Given the description of an element on the screen output the (x, y) to click on. 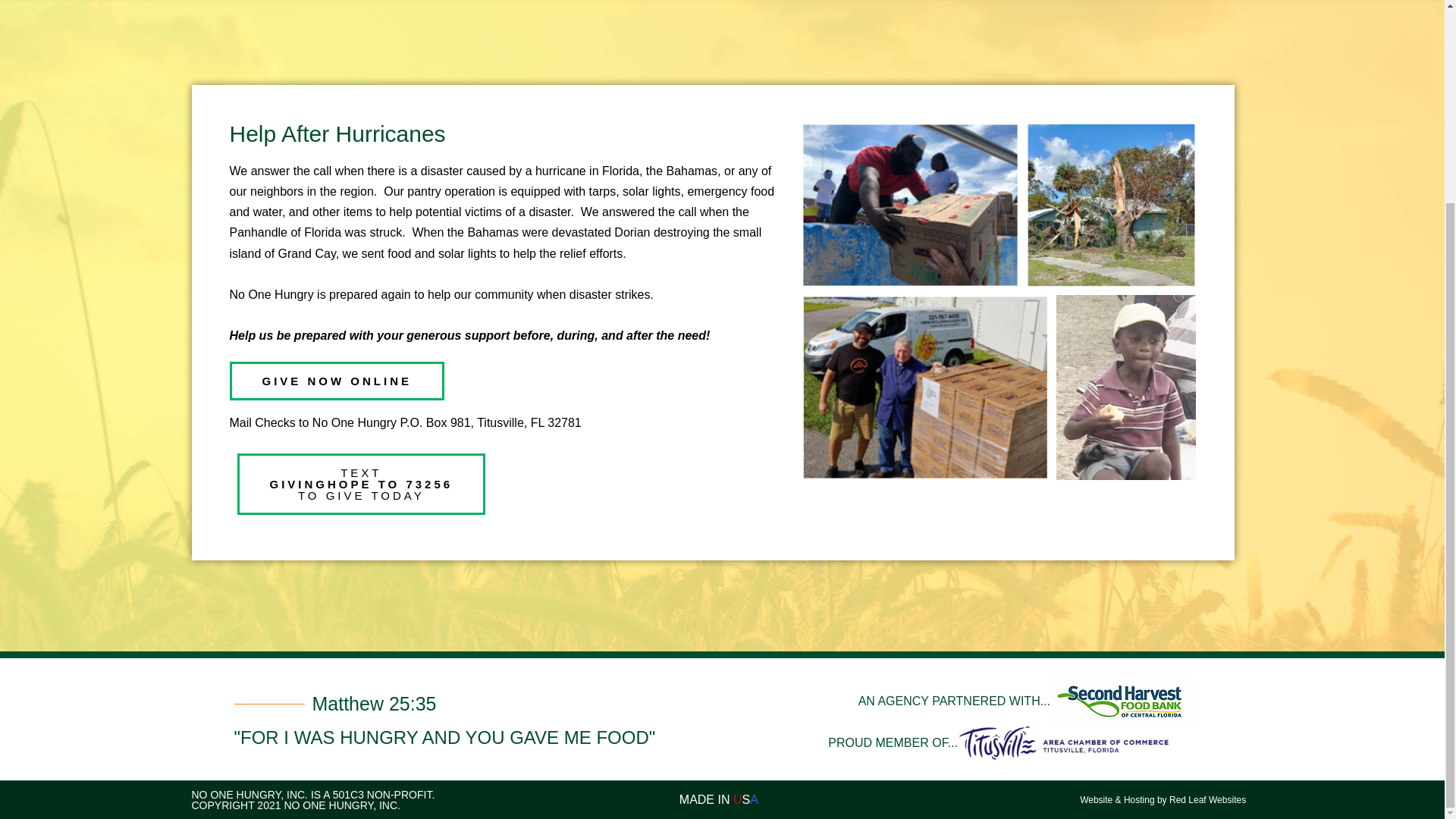
logo (1064, 742)
